Given the description of an element on the screen output the (x, y) to click on. 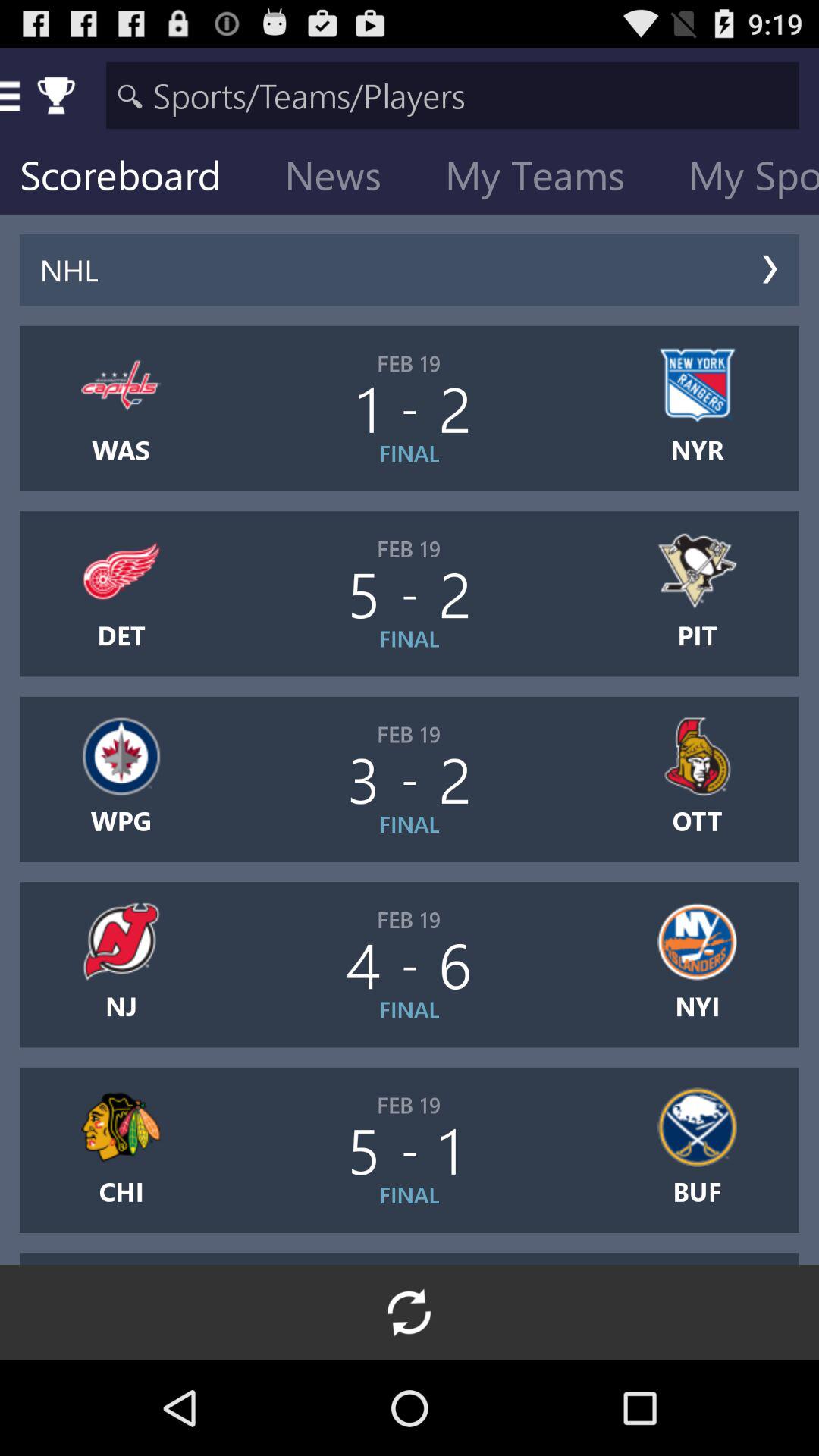
search box (452, 95)
